Given the description of an element on the screen output the (x, y) to click on. 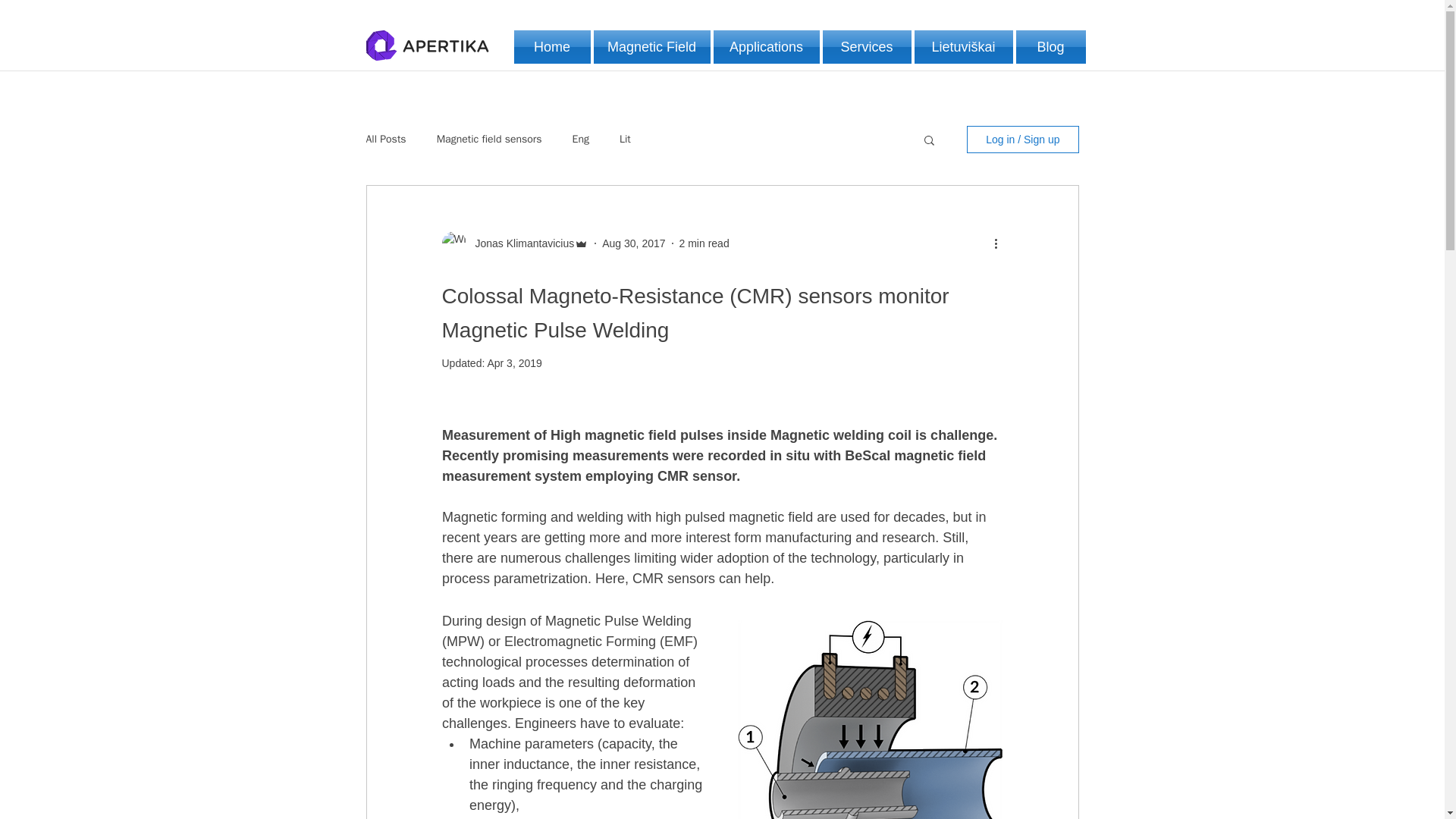
Home (552, 46)
All Posts (385, 139)
Apr 3, 2019 (513, 363)
apertika logo galutinis violet.png (426, 45)
Aug 30, 2017 (633, 242)
Magnetic field sensors (488, 139)
Blog (1050, 46)
2 min read (704, 242)
Eng (580, 139)
Services (866, 46)
